Given the description of an element on the screen output the (x, y) to click on. 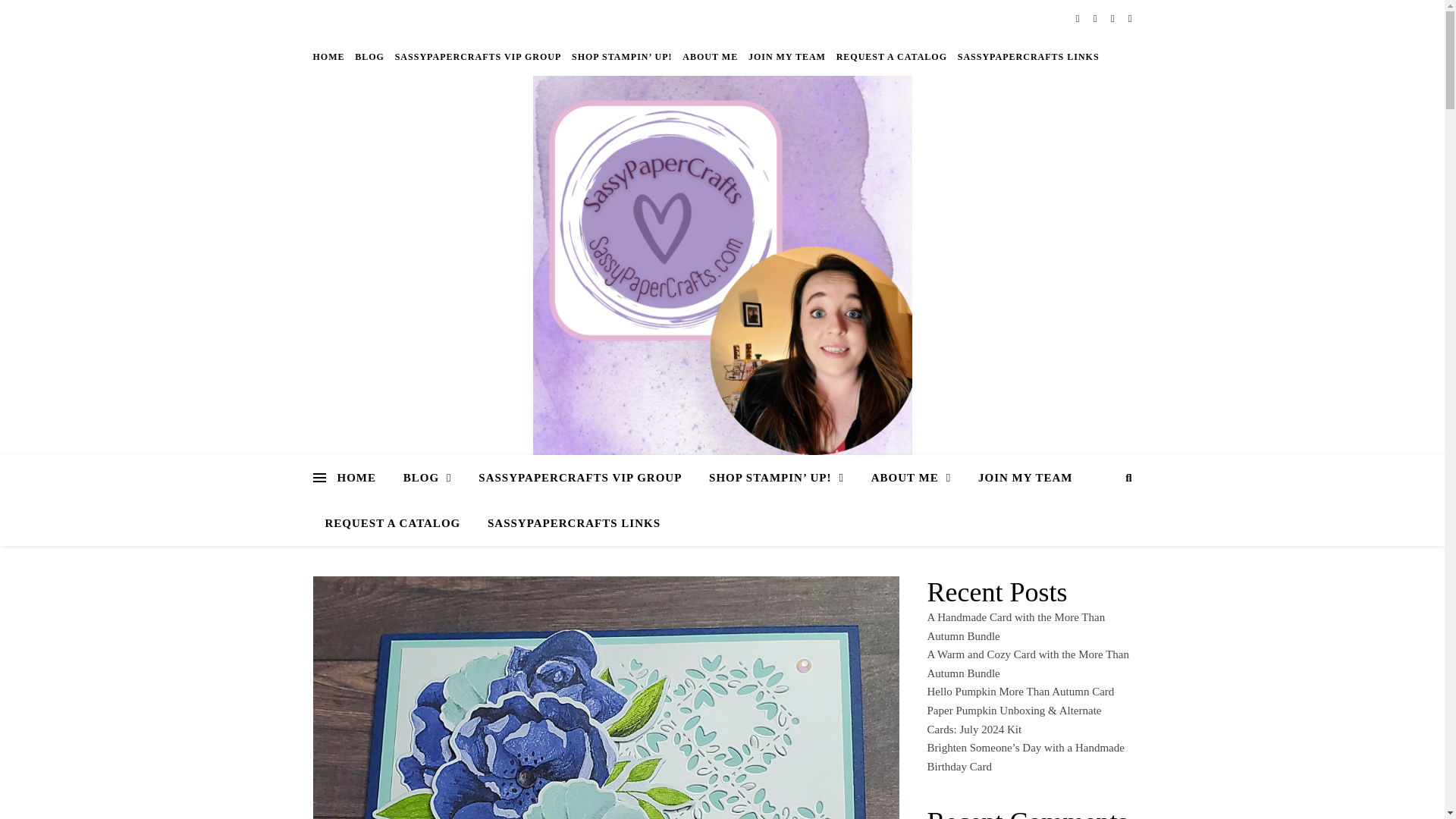
BLOG (369, 56)
SASSYPAPERCRAFTS LINKS (1026, 56)
SASSYPAPERCRAFTS VIP GROUP (478, 56)
SASSYPAPERCRAFTS VIP GROUP (579, 477)
SASSYPAPERCRAFTS LINKS (568, 523)
HOME (362, 477)
JOIN MY TEAM (786, 56)
JOIN MY TEAM (1025, 477)
BLOG (427, 477)
